Given the description of an element on the screen output the (x, y) to click on. 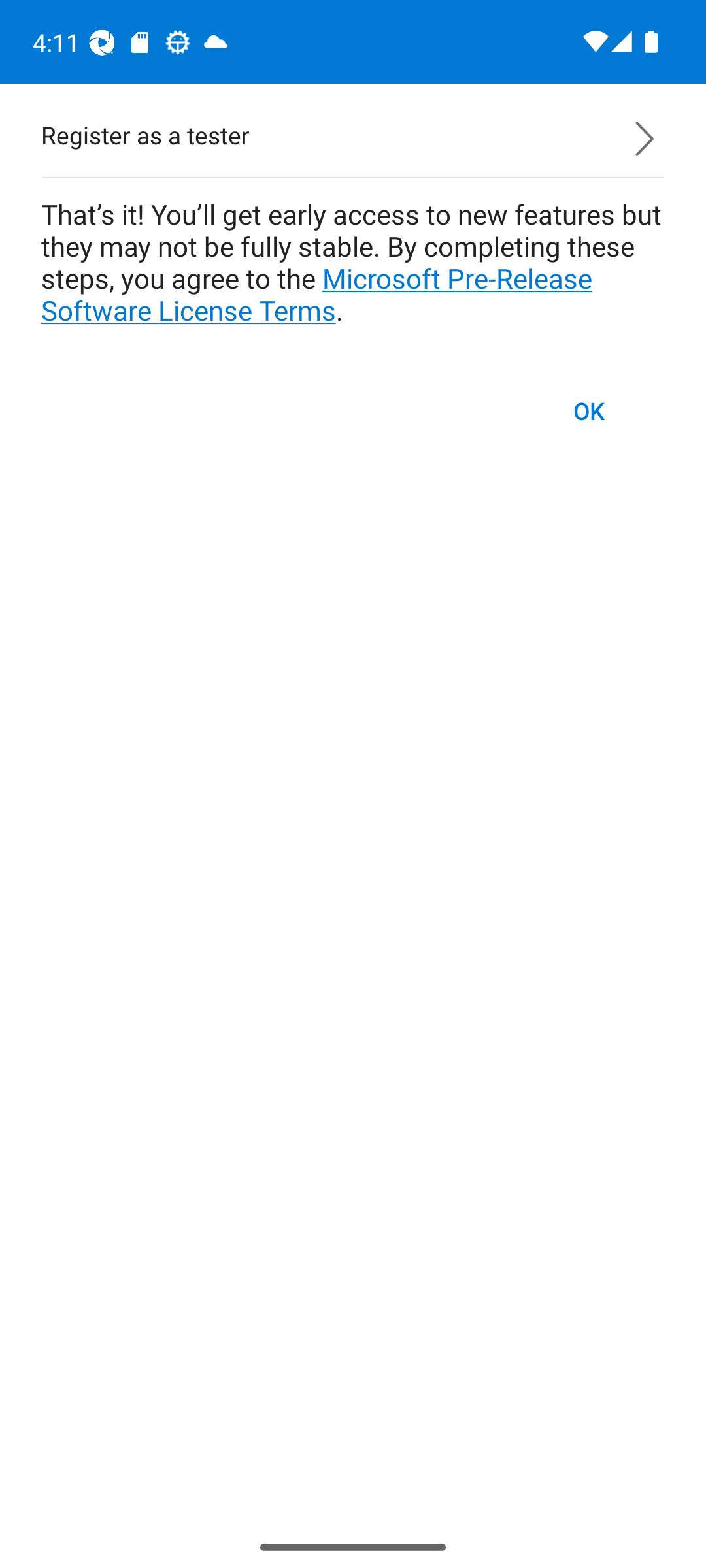
Register as a tester (352, 138)
OK (589, 410)
